Given the description of an element on the screen output the (x, y) to click on. 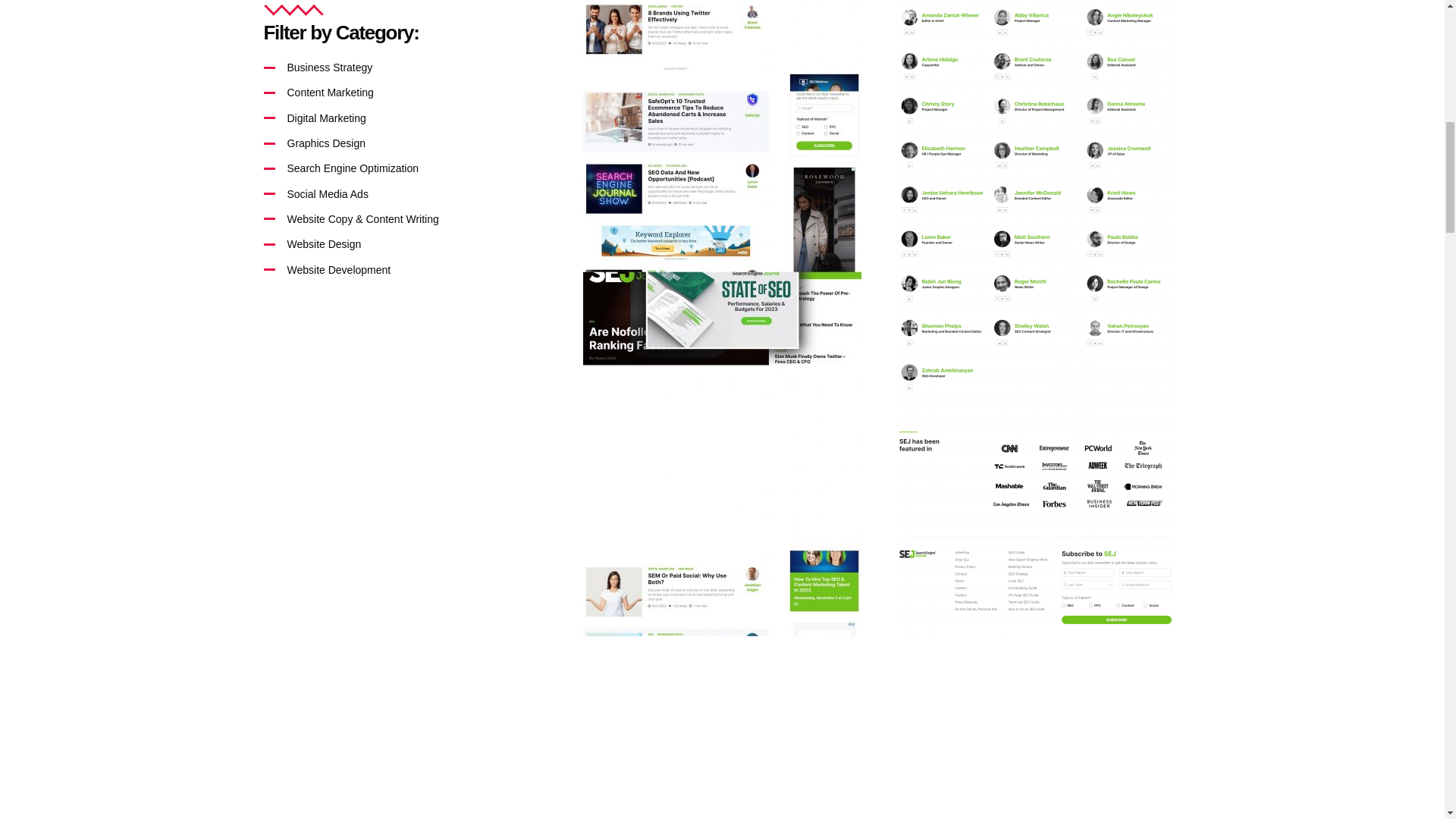
Content Marketing (408, 91)
Graphics Design (408, 142)
Business Strategy (408, 66)
Search Engine Optimization (408, 167)
Digital Marketing (408, 116)
